Given the description of an element on the screen output the (x, y) to click on. 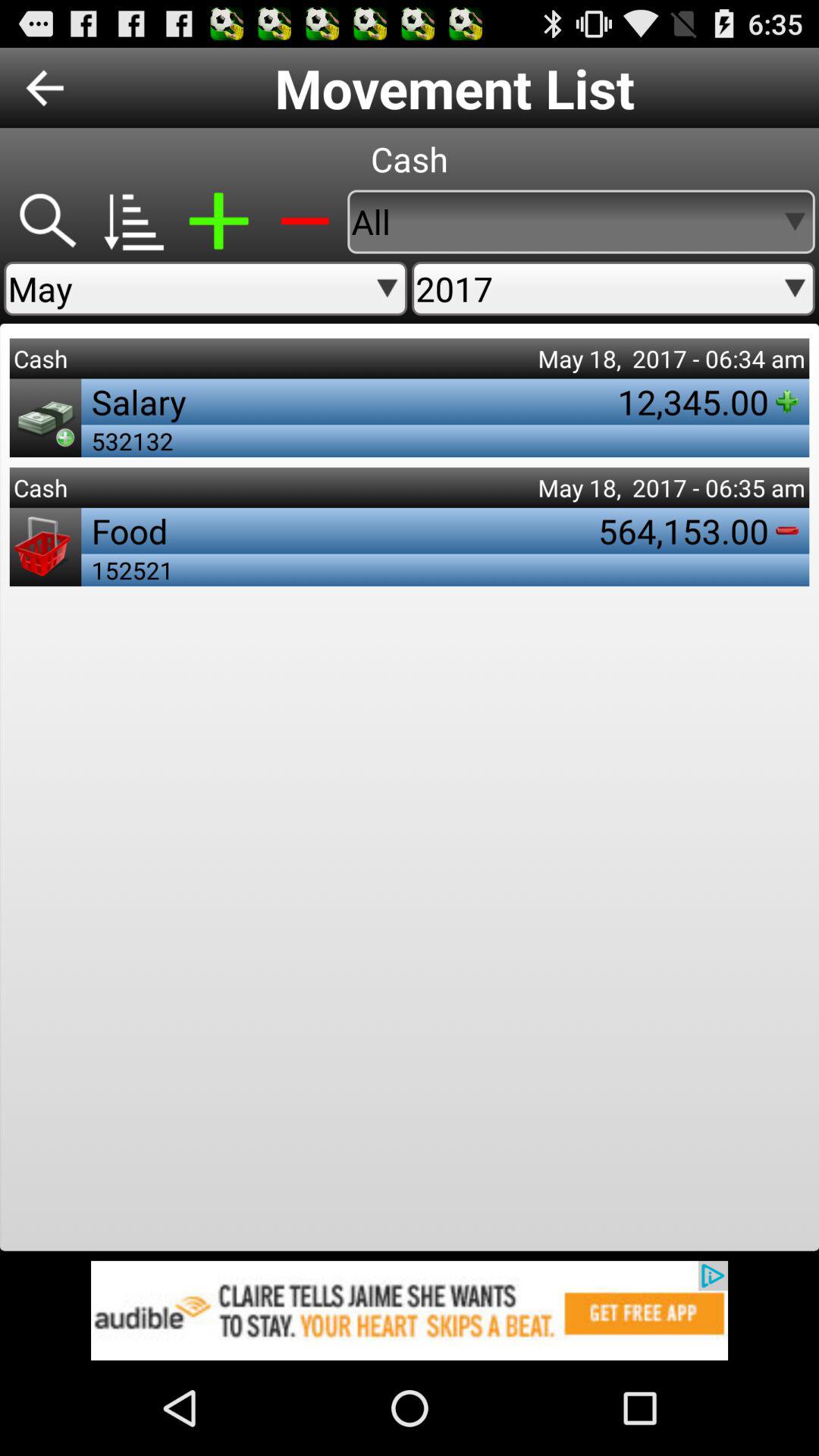
go to previous screen (44, 87)
